Given the description of an element on the screen output the (x, y) to click on. 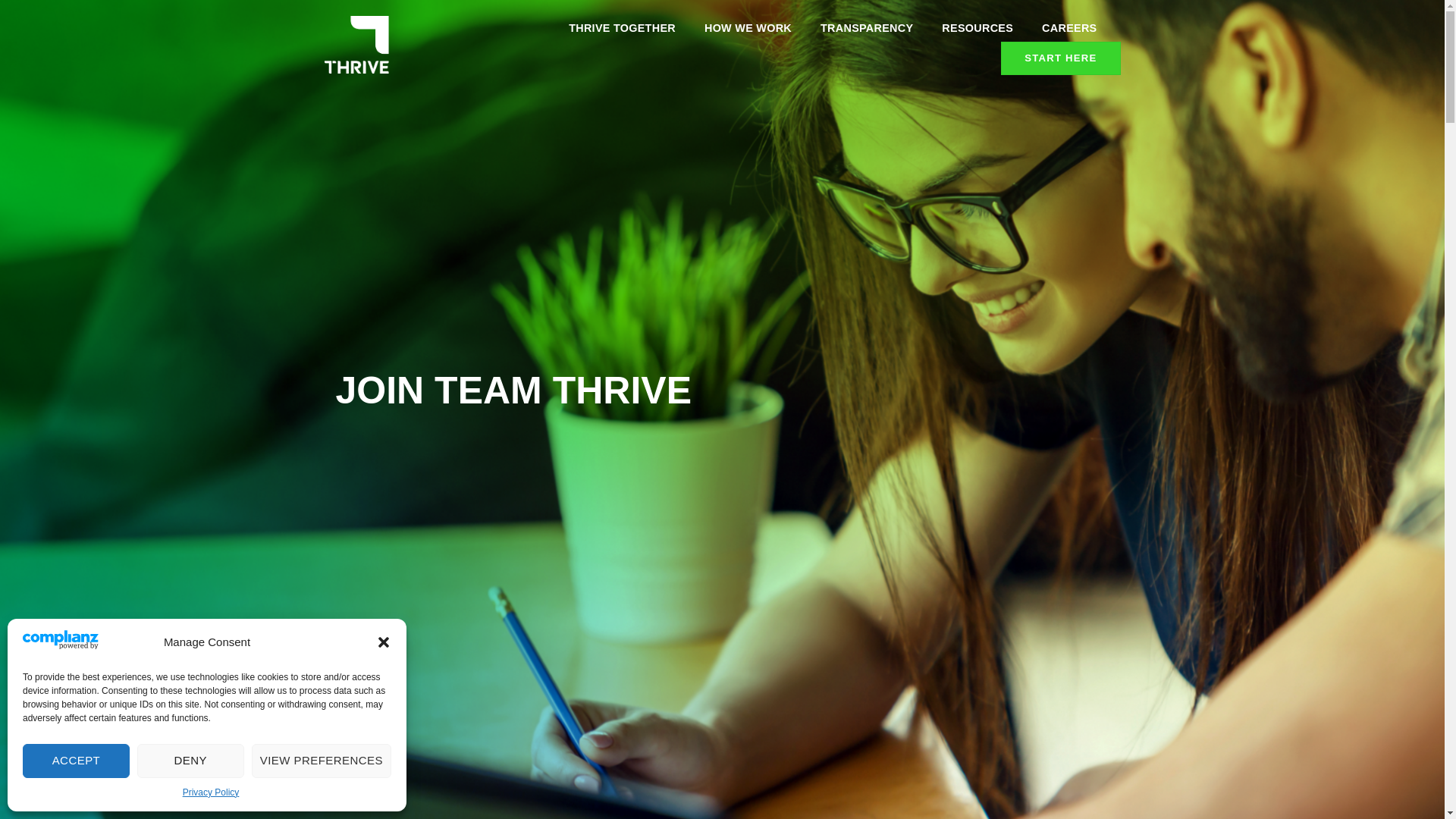
CAREERS (1069, 27)
START HERE (1060, 58)
DENY (190, 760)
HOW WE WORK (748, 27)
TRANSPARENCY (866, 27)
THRIVE TOGETHER (622, 27)
RESOURCES (977, 27)
Privacy Policy (211, 792)
VIEW PREFERENCES (321, 760)
ACCEPT (76, 760)
